Given the description of an element on the screen output the (x, y) to click on. 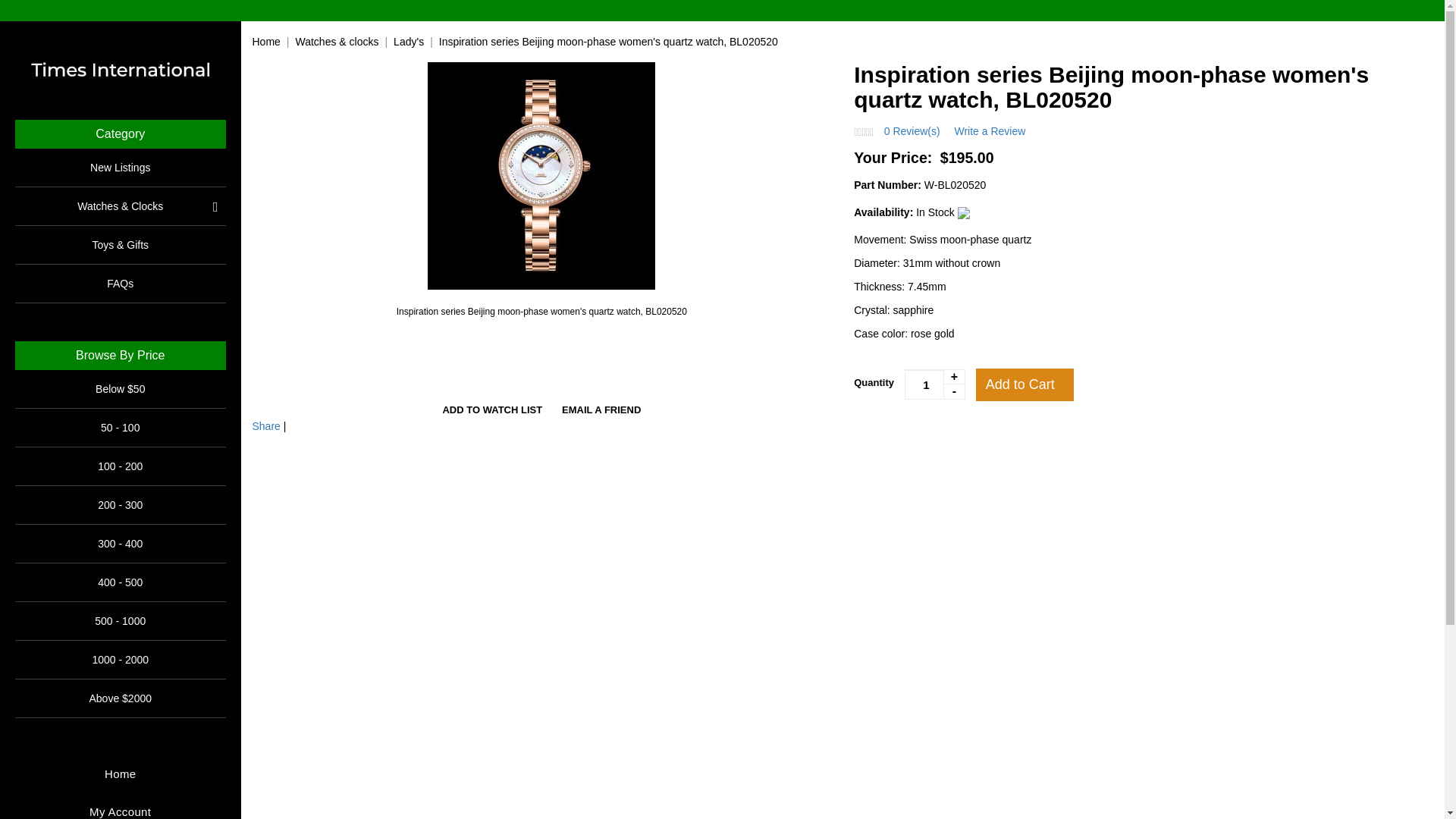
FAQs (119, 283)
50 - 100 (119, 427)
100 - 200 (120, 465)
1 (934, 384)
New Listings (119, 167)
200 - 300 (120, 504)
300 - 400 (120, 543)
